Given the description of an element on the screen output the (x, y) to click on. 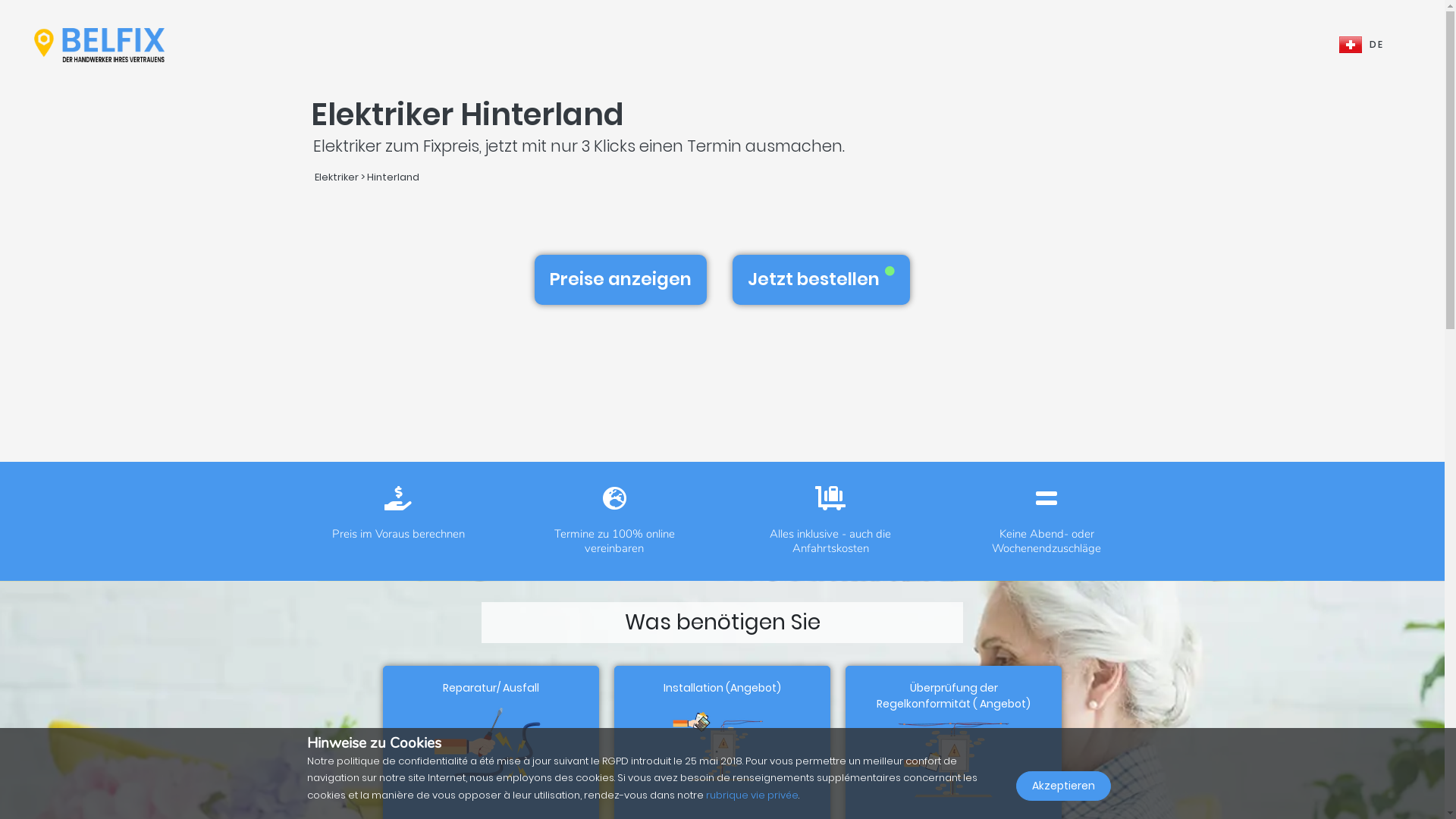
Hinterland Element type: text (393, 176)
Elektriker Element type: text (336, 176)
Jetzt bestellen Element type: text (821, 279)
Preise anzeigen Element type: text (620, 279)
Akzeptieren Element type: text (1063, 785)
